Given the description of an element on the screen output the (x, y) to click on. 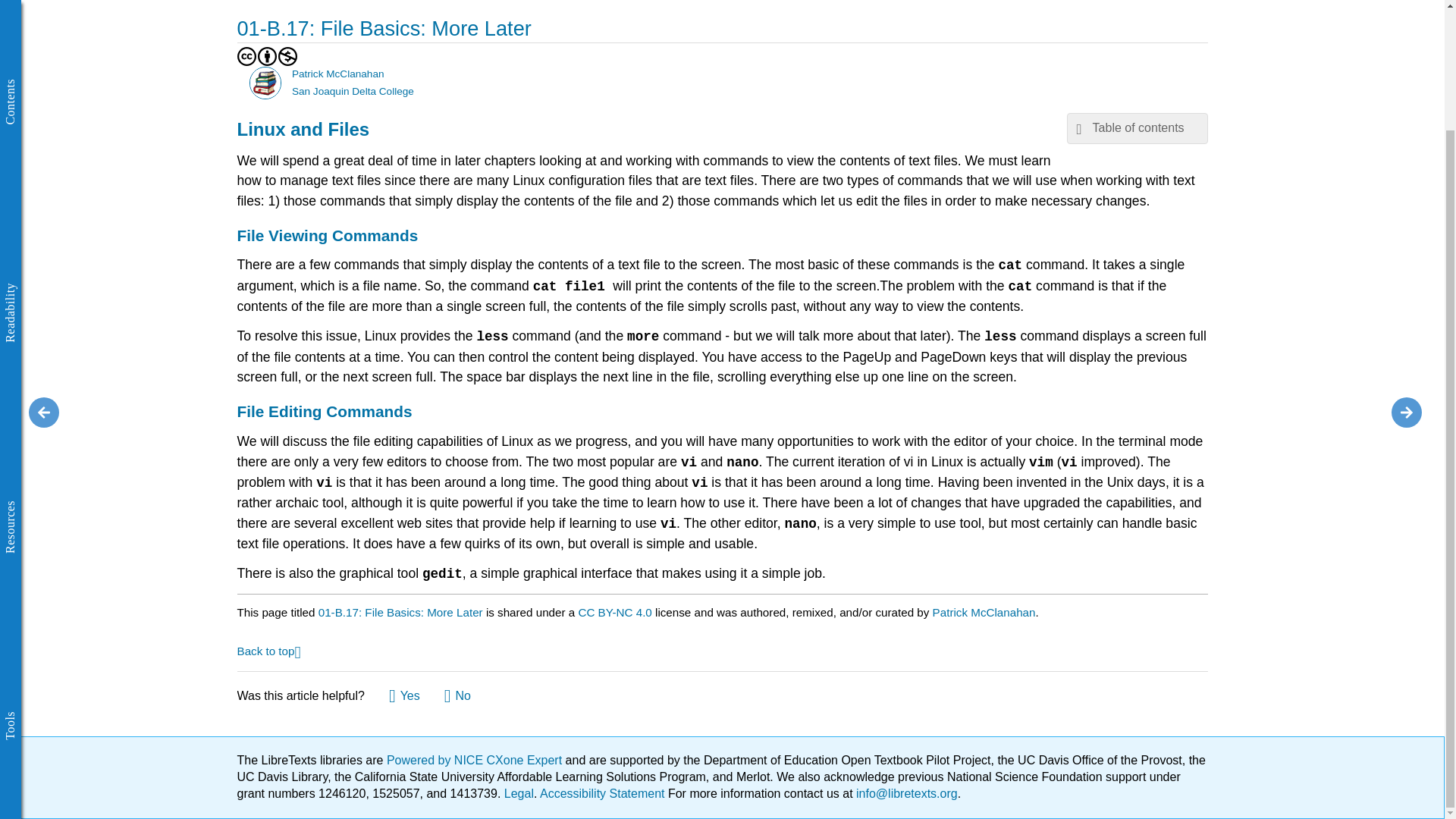
NC (287, 56)
Patrick McClanahan (265, 82)
BY (267, 56)
CC (246, 56)
Jump back to top of this article (267, 650)
